Given the description of an element on the screen output the (x, y) to click on. 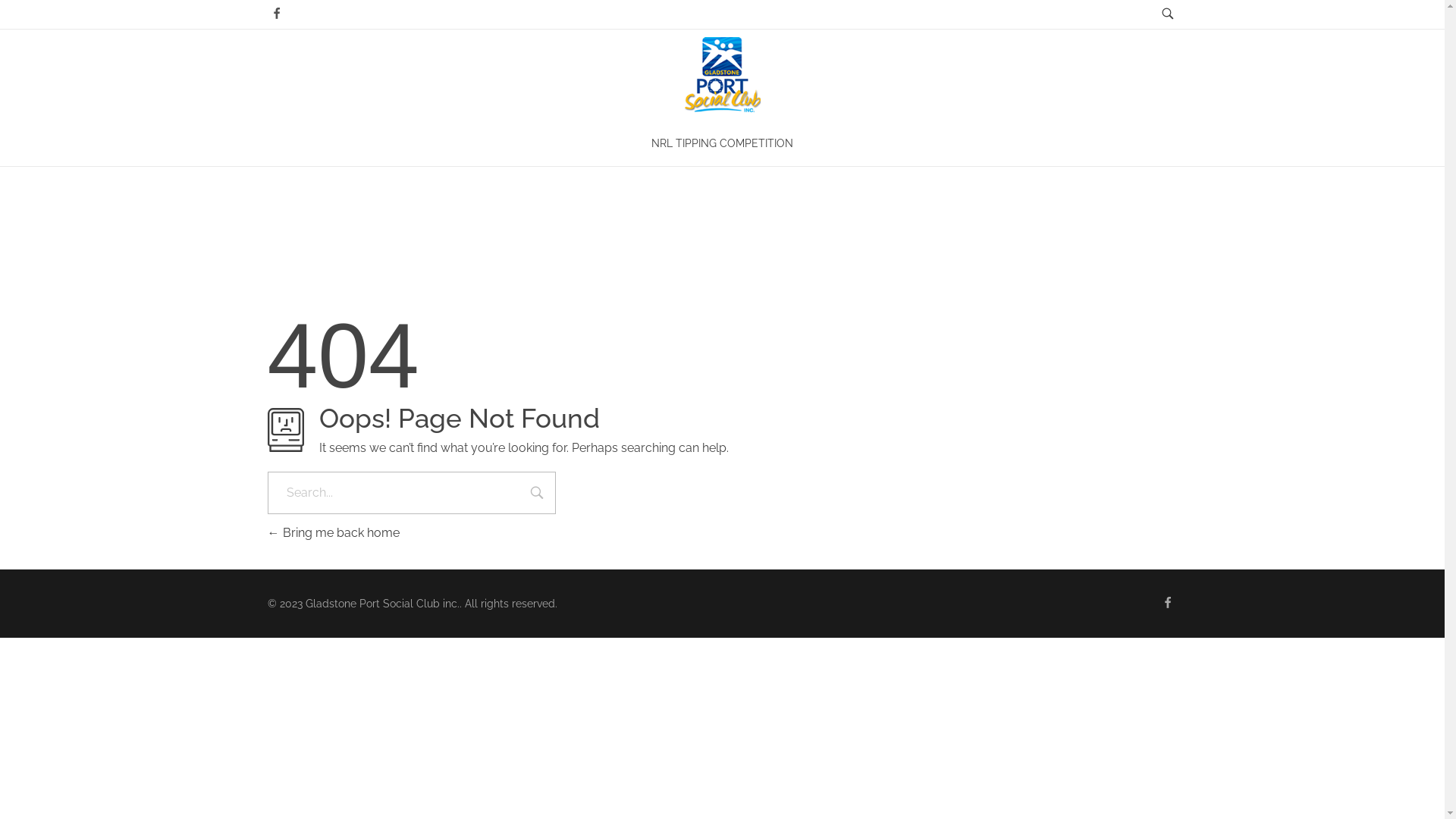
Search Element type: text (536, 494)
NRL TIPPING COMPETITION Element type: text (722, 143)
Bring me back home Element type: text (332, 532)
